Given the description of an element on the screen output the (x, y) to click on. 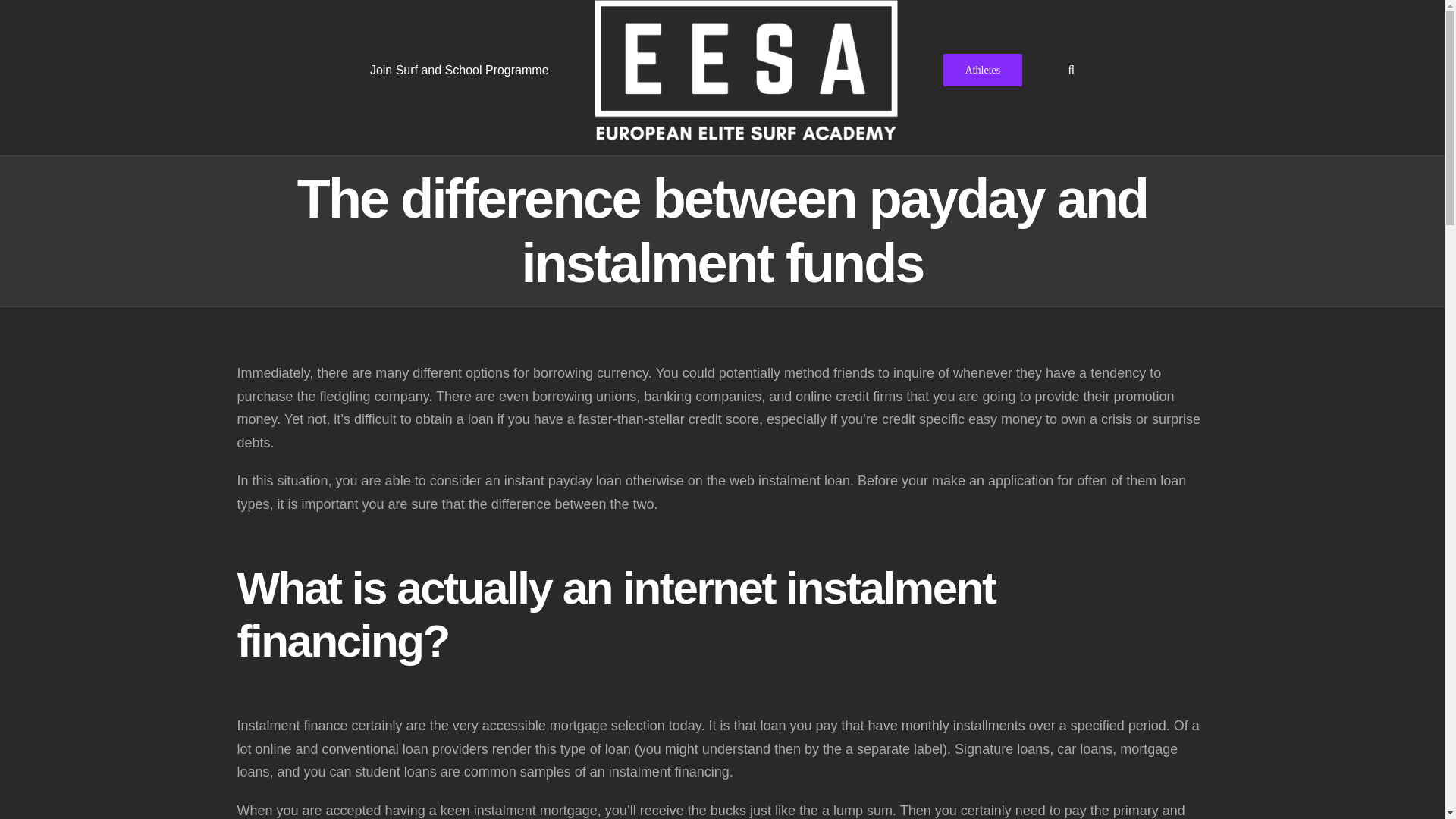
Join Surf and School Programme (458, 69)
Athletes (983, 69)
HACKSCHOOLING INSTITUTE (758, 793)
